Given the description of an element on the screen output the (x, y) to click on. 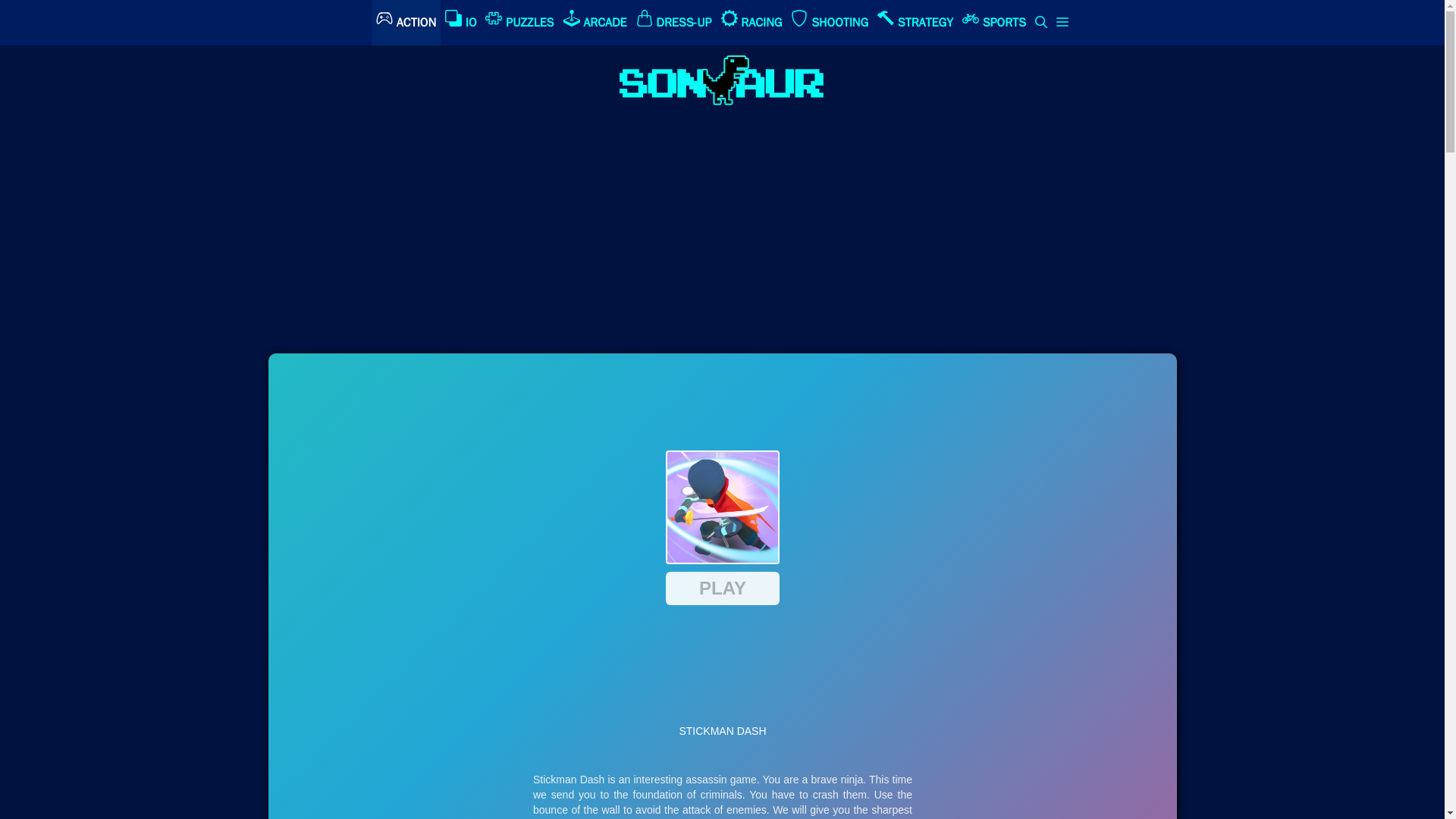
Shooting Games (829, 22)
SPORTS (994, 22)
Sports Games (994, 22)
SHOOTING (829, 22)
STRATEGY (915, 22)
DRESS-UP (673, 22)
Puzzle Games (518, 22)
Strategy Games (915, 22)
Dress Up Games (673, 22)
RACING (751, 22)
IO (461, 22)
Action Games (406, 22)
PUZZLES (518, 22)
Racing Games (751, 22)
